Given the description of an element on the screen output the (x, y) to click on. 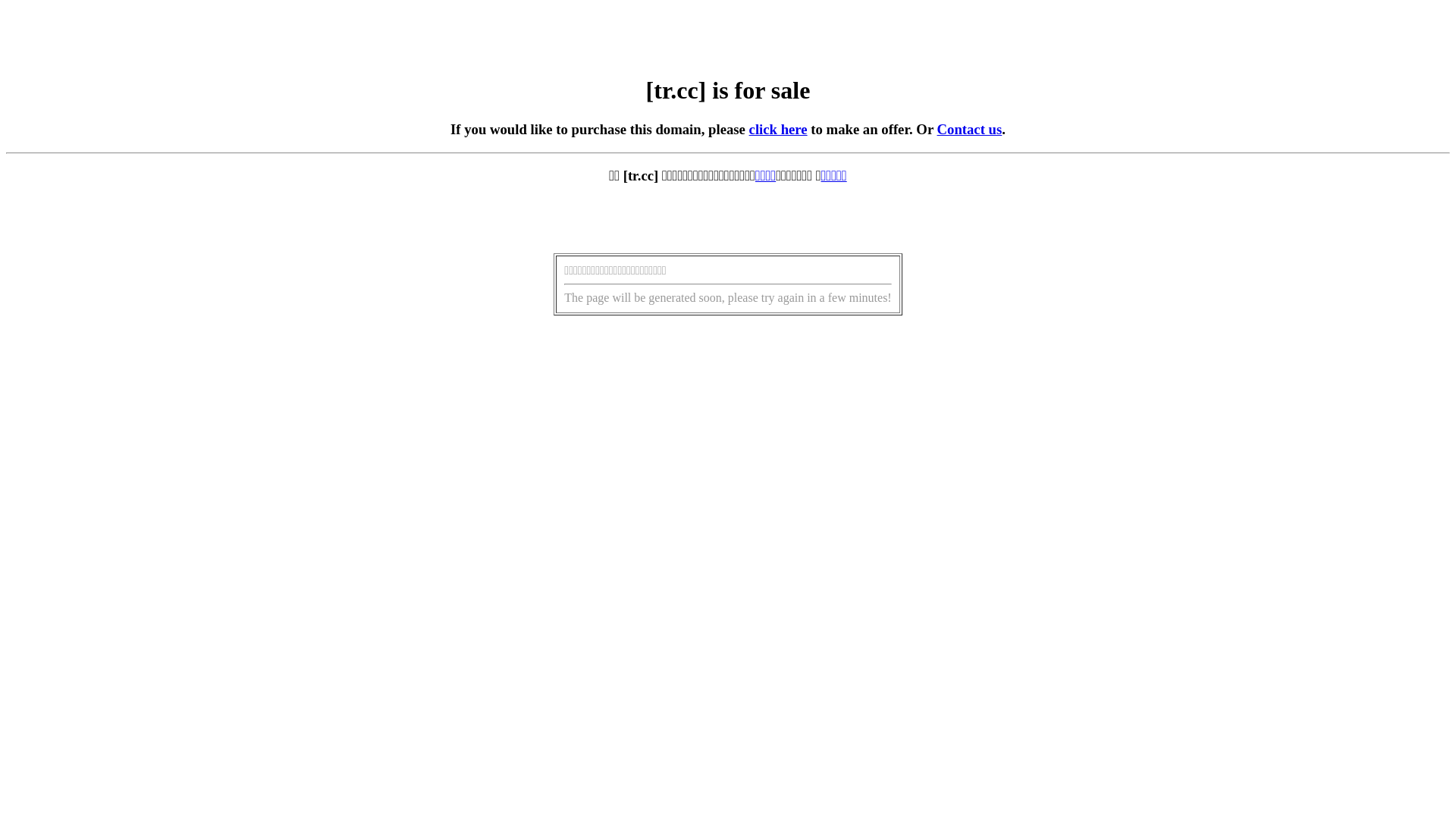
Contact us Element type: text (969, 129)
click here Element type: text (778, 129)
